Given the description of an element on the screen output the (x, y) to click on. 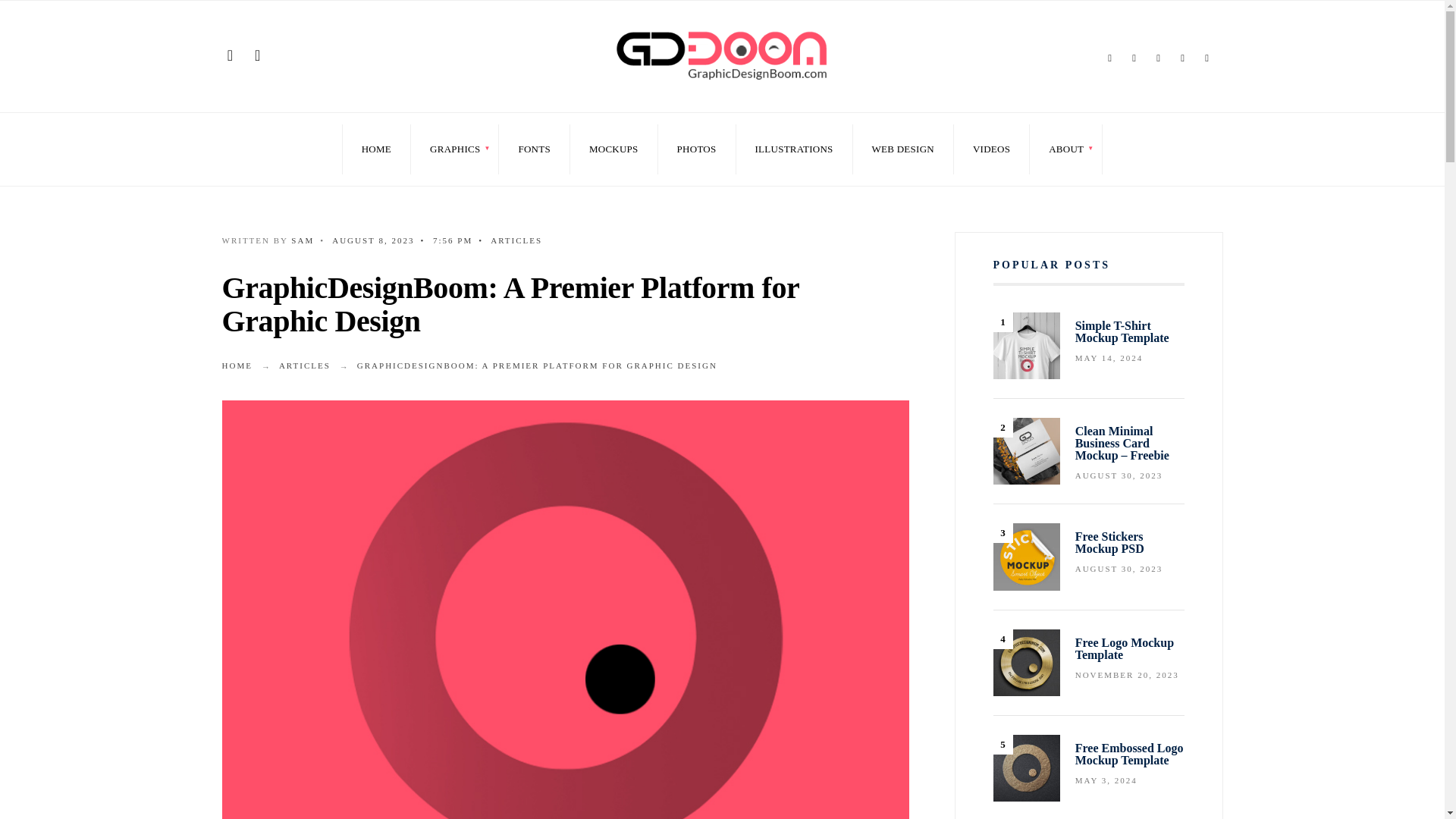
ABOUT (1066, 149)
Facebook (1109, 58)
FONTS (533, 149)
ILLUSTRATIONS (793, 149)
SAM (302, 239)
Free Embossed Logo Mockup Template (1025, 767)
WEB DESIGN (902, 149)
VIDEOS (991, 149)
HOME (236, 365)
Twitter (1134, 58)
ARTICLES (515, 239)
Pinterest (1182, 58)
Instagram (1158, 58)
Dribbble (1207, 58)
MOCKUPS (613, 149)
